Given the description of an element on the screen output the (x, y) to click on. 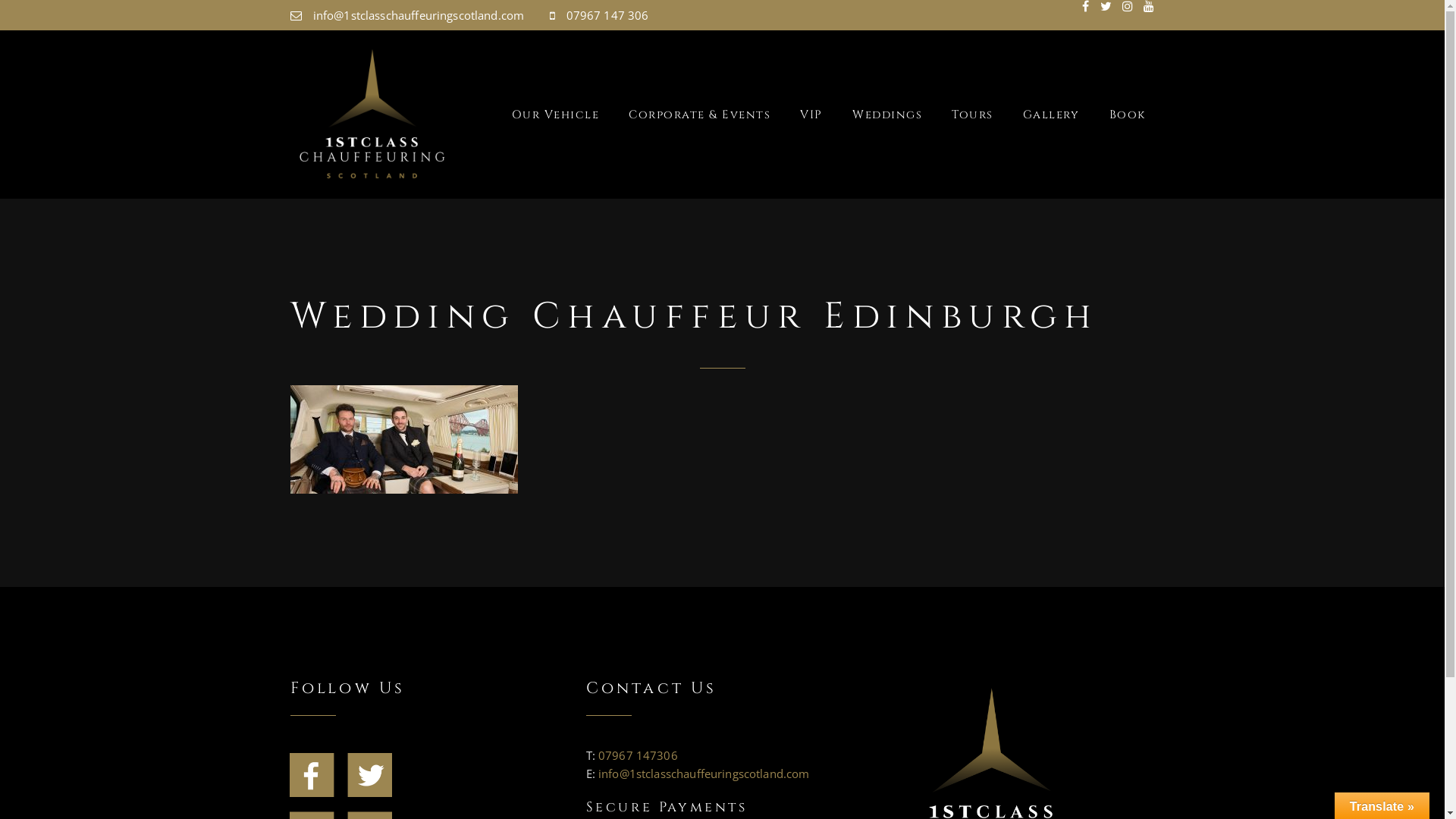
07967 147306 Element type: text (637, 754)
Our Vehicle Element type: text (555, 114)
VIP Element type: text (797, 114)
Weddings Element type: text (873, 114)
Follow us on Twitter Element type: hover (369, 773)
Gallery Element type: text (1037, 114)
Corporate & Events Element type: text (686, 114)
Find us on Facebook Element type: hover (312, 773)
Tours Element type: text (959, 114)
info@1stclasschauffeuringscotland.com Element type: text (703, 773)
Book Element type: text (1118, 114)
